Given the description of an element on the screen output the (x, y) to click on. 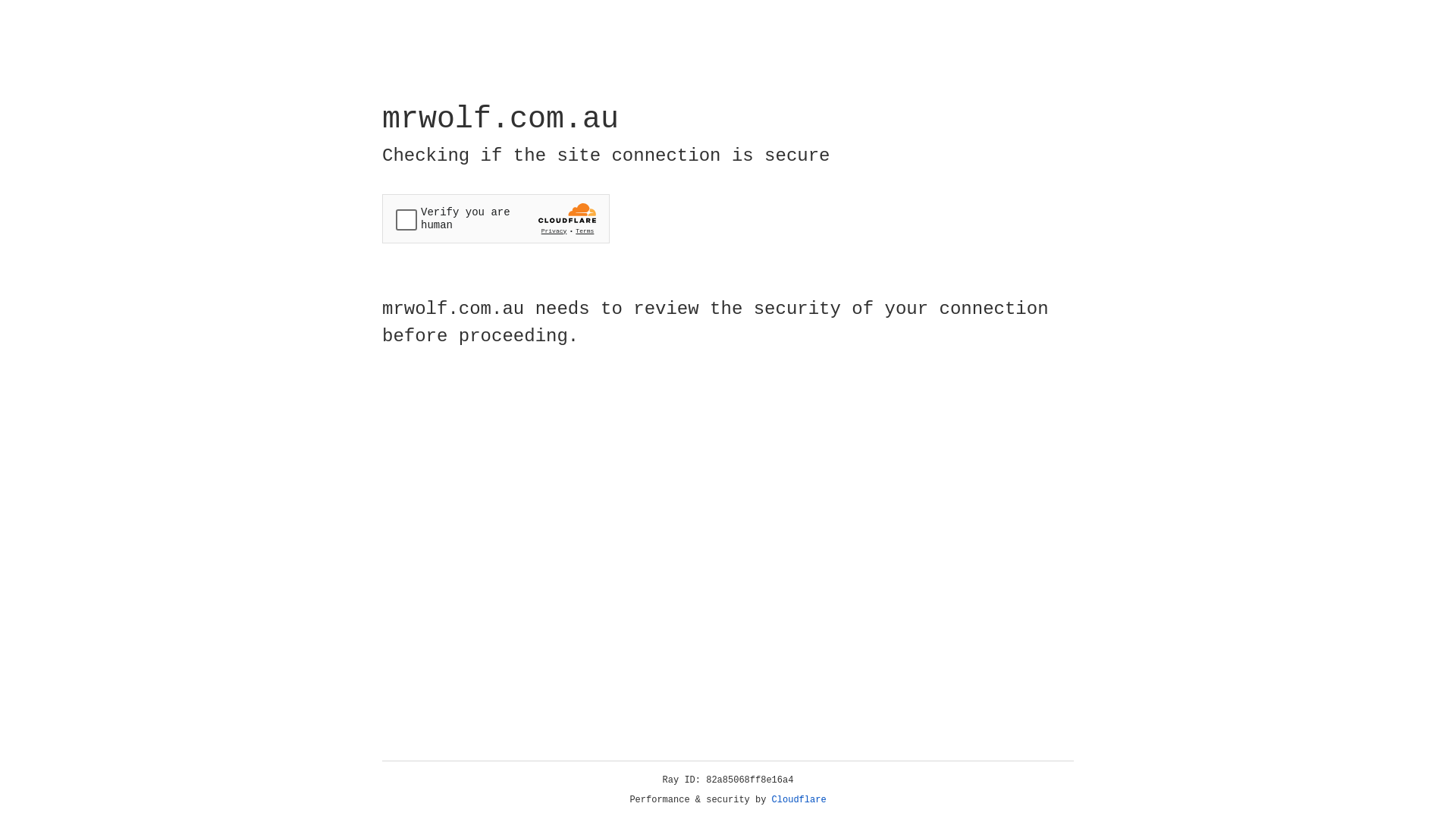
Widget containing a Cloudflare security challenge Element type: hover (495, 218)
Cloudflare Element type: text (798, 799)
